Given the description of an element on the screen output the (x, y) to click on. 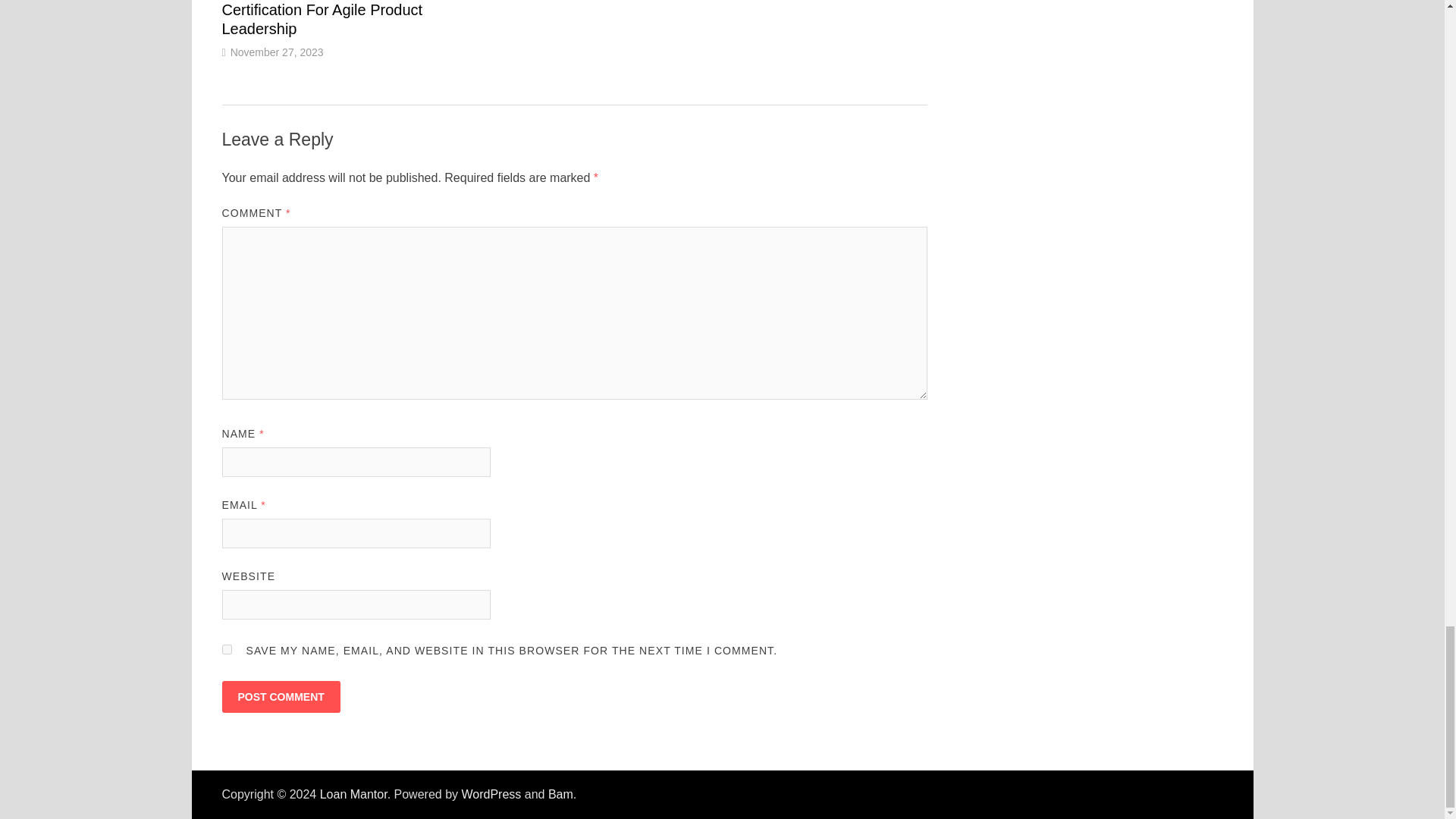
Loan Mantor (353, 793)
yes (226, 649)
Post Comment (280, 696)
